Given the description of an element on the screen output the (x, y) to click on. 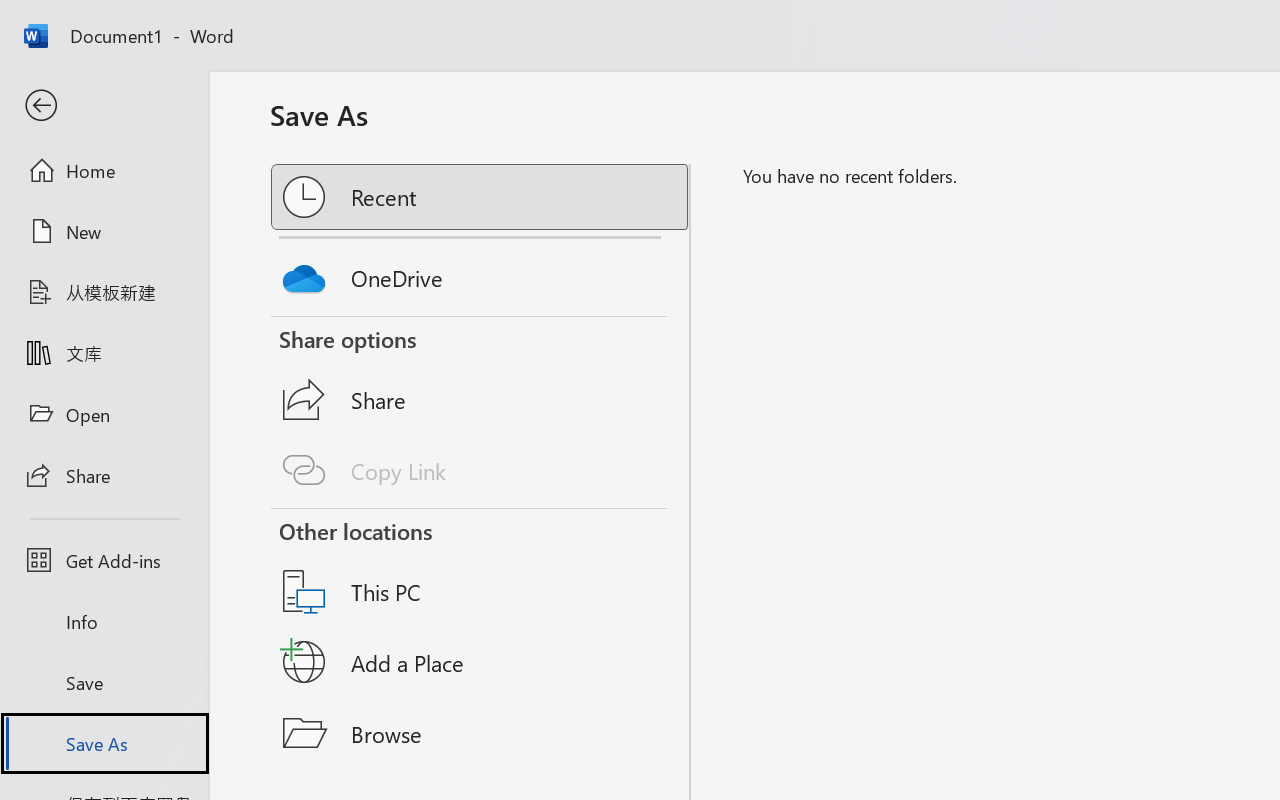
Recent (481, 197)
Info (104, 621)
This PC (481, 566)
Add a Place (481, 661)
